Given the description of an element on the screen output the (x, y) to click on. 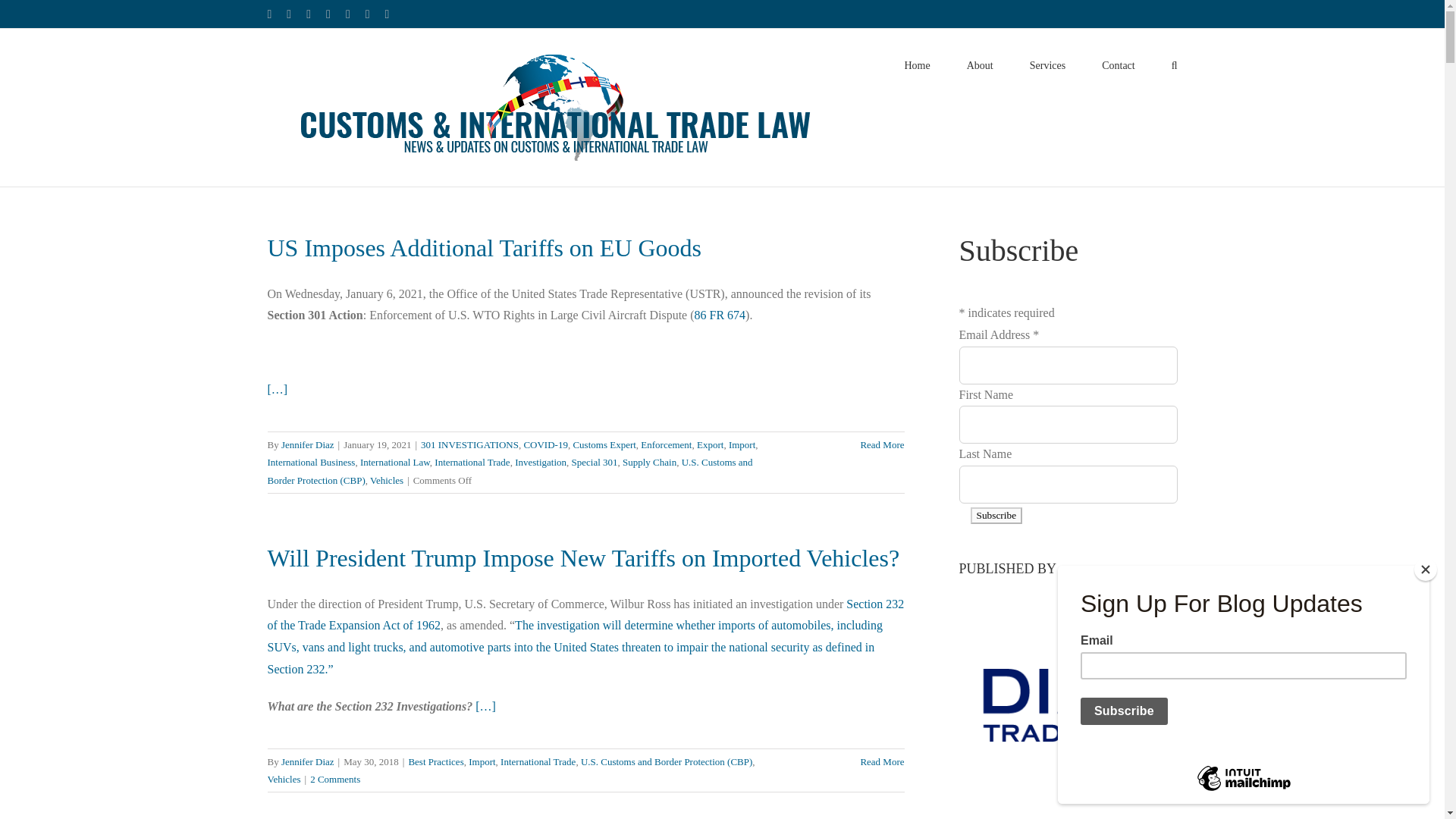
US Imposes Additional Tariffs on EU Goods (483, 247)
86 FR 674 (719, 314)
International Trade (471, 461)
COVID-19 (544, 444)
Enforcement (665, 444)
Import (742, 444)
Investigation (540, 461)
International Business (310, 461)
Export (710, 444)
International Law (394, 461)
301 INVESTIGATIONS (469, 444)
Posts by Jennifer Diaz (307, 761)
Jennifer Diaz (307, 444)
Supply Chain (650, 461)
Posts by Jennifer Diaz (307, 444)
